Given the description of an element on the screen output the (x, y) to click on. 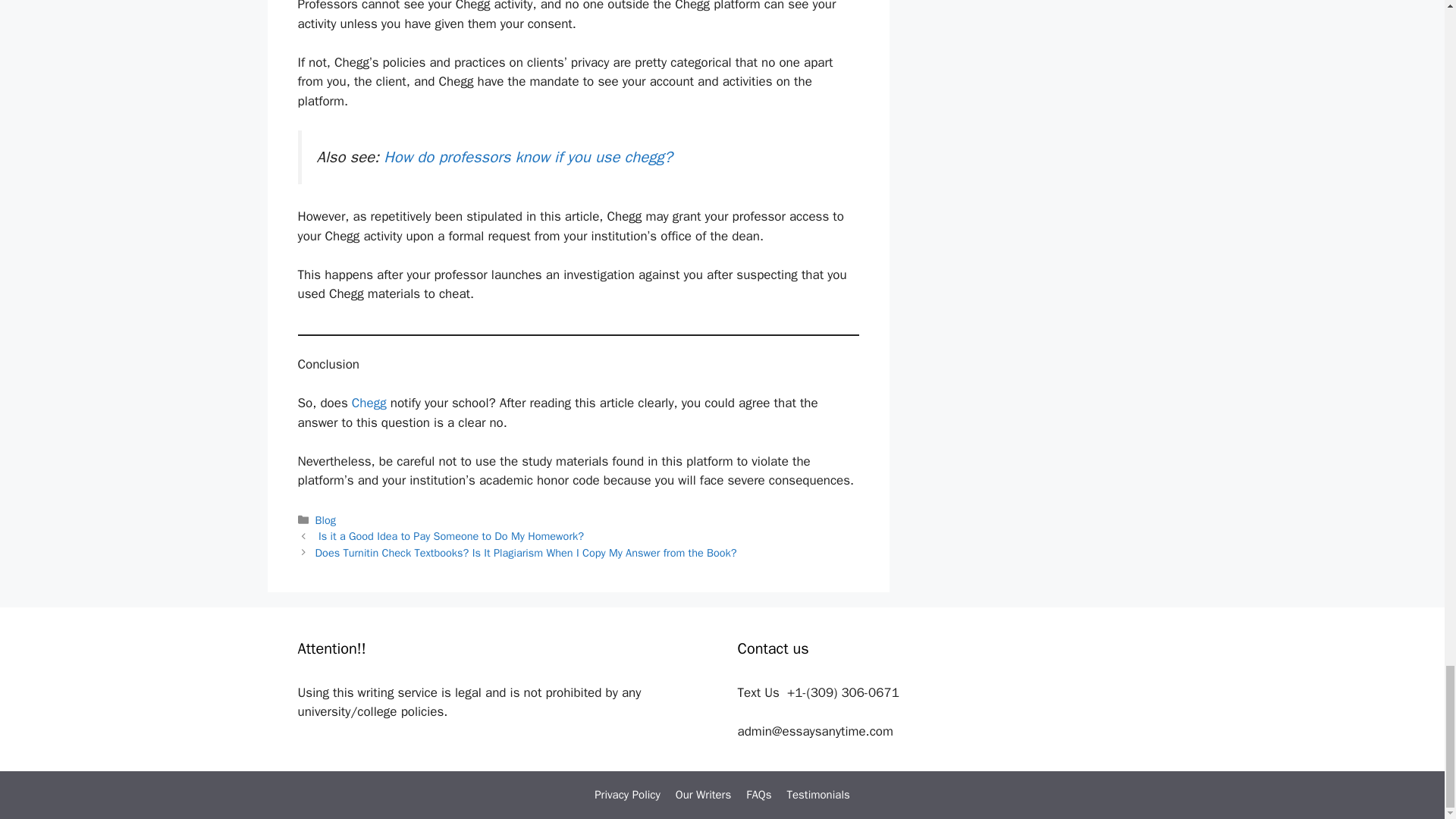
Our Writers (702, 794)
How do professors know if you use chegg? (527, 157)
Testimonials (817, 794)
Privacy Policy (627, 794)
 Is it a Good Idea to Pay Someone to Do My Homework? (449, 535)
Chegg (369, 402)
FAQs (758, 794)
Blog (325, 520)
